Given the description of an element on the screen output the (x, y) to click on. 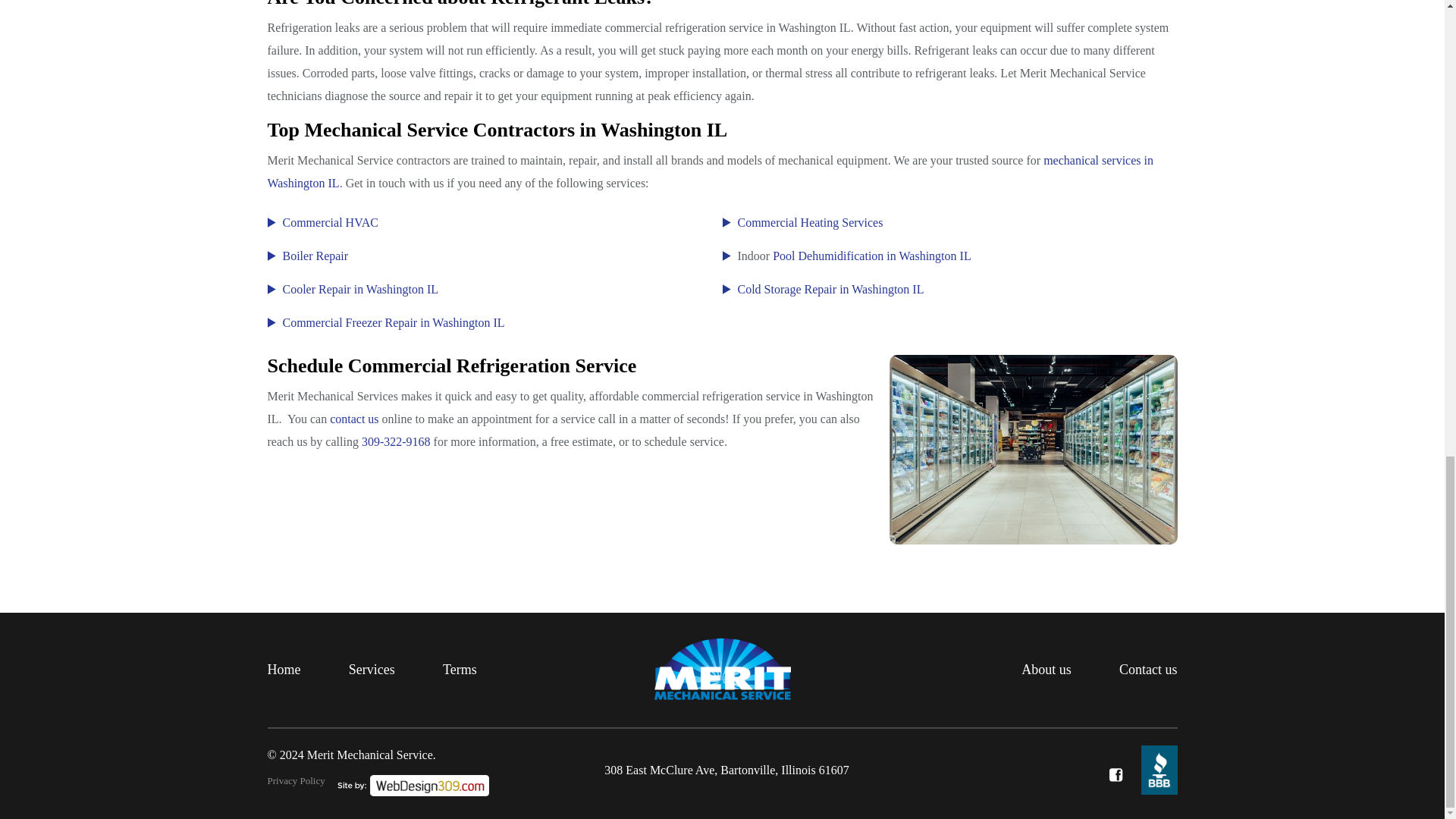
Services (371, 669)
Privacy Policy (295, 780)
Home (282, 669)
Pool Dehumidification in Washington IL (872, 255)
mechanical services in Washington IL (709, 171)
309-322-9168 (395, 440)
Commercial Freezer Repair in Washington IL (392, 322)
About us (1046, 669)
Contact us (1148, 669)
fb (1115, 775)
